Given the description of an element on the screen output the (x, y) to click on. 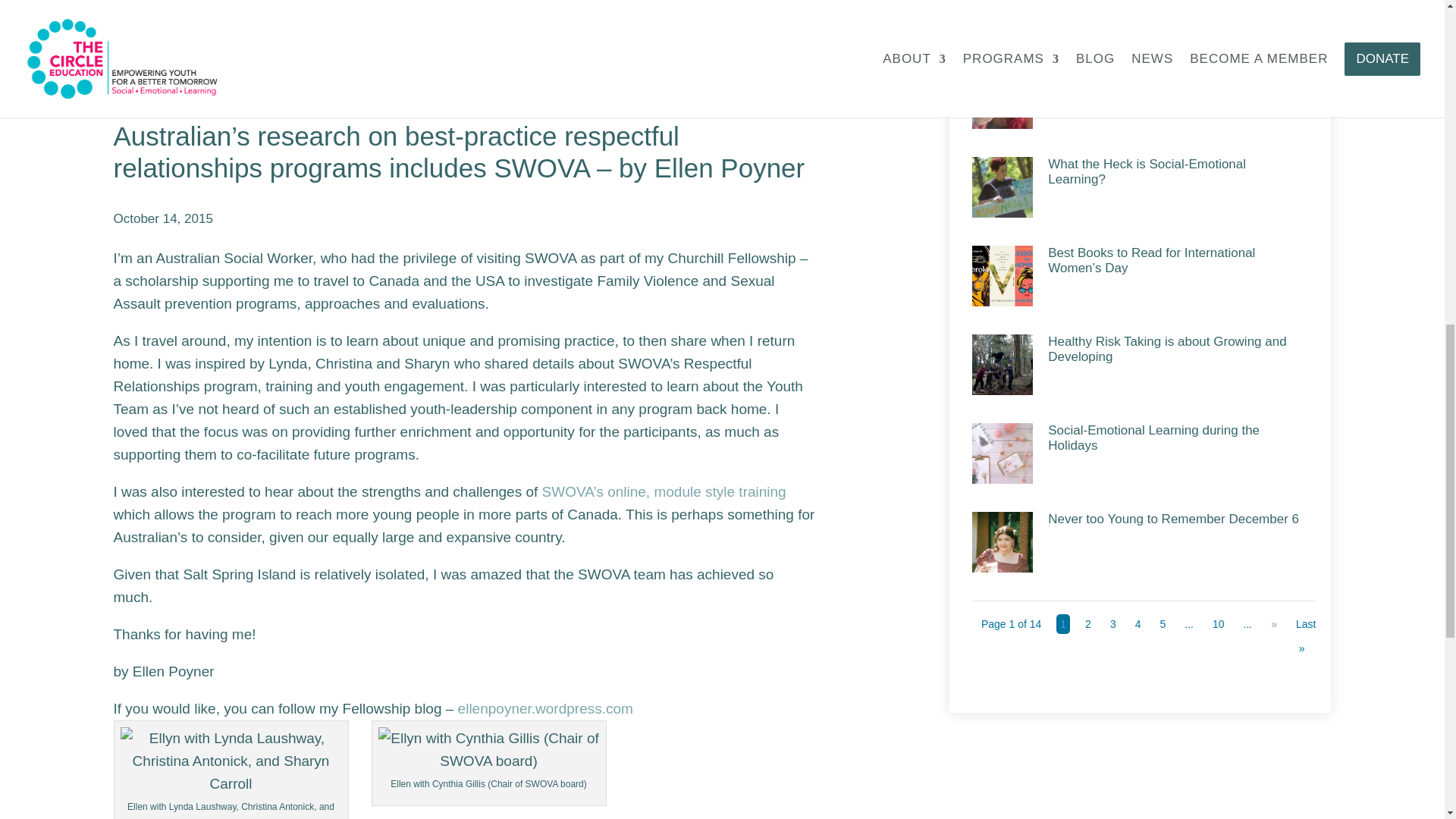
Page 3 (1112, 623)
Page 4 (1137, 623)
Page 10 (1218, 623)
Page 5 (1162, 623)
ellenpoyner.wordpress.com (545, 708)
Page 2 (1087, 623)
